Given the description of an element on the screen output the (x, y) to click on. 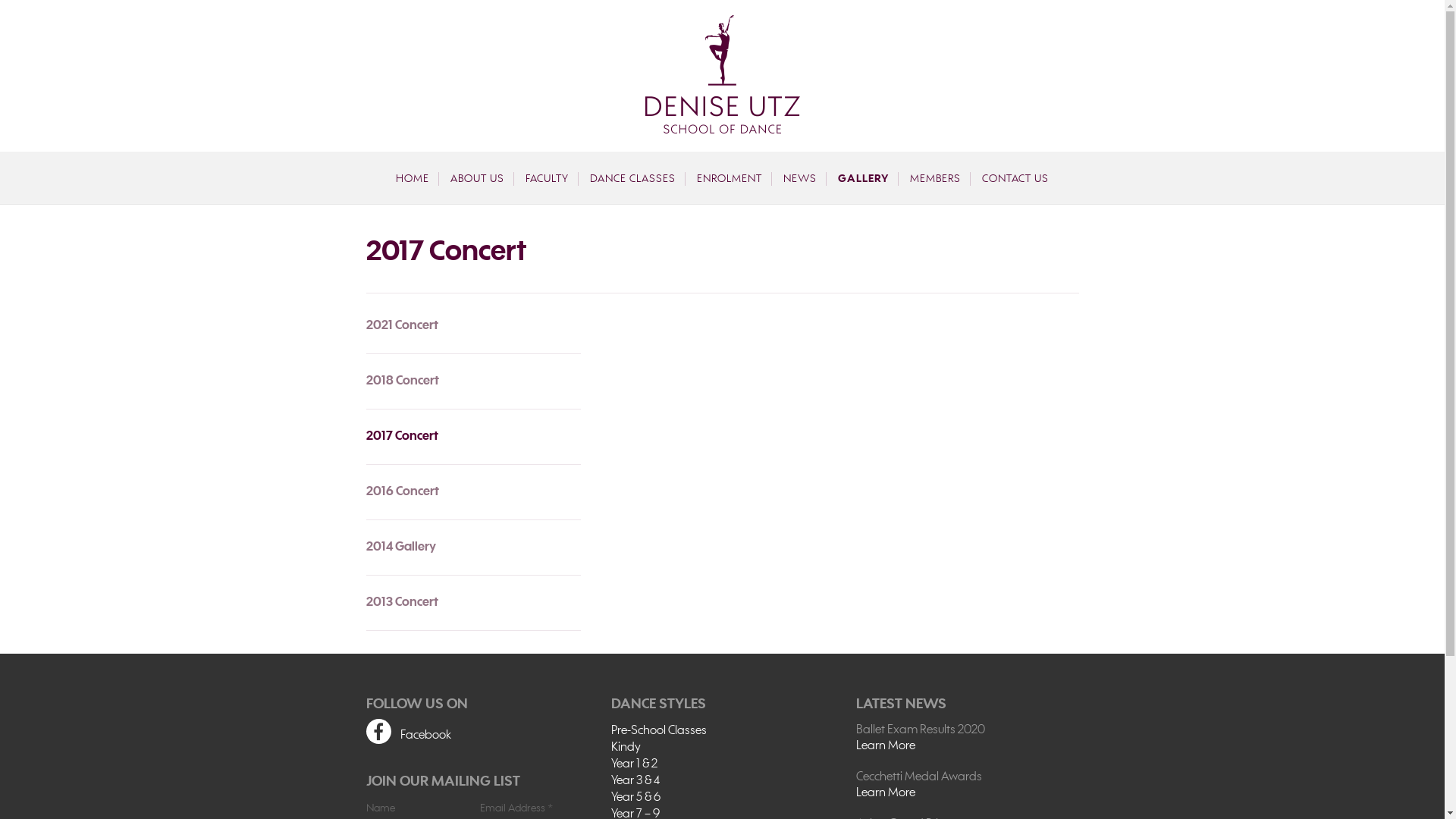
CONTACT US Element type: text (1014, 178)
Year 1 & 2 Element type: text (722, 764)
NEWS Element type: text (800, 178)
Learn More Element type: text (967, 745)
Facebook Element type: text (476, 733)
Pre-School Classes Element type: text (722, 730)
2017 Concert Element type: text (472, 436)
2013 Concert Element type: text (472, 602)
Year 3 & 4 Element type: text (722, 780)
GALLERY Element type: text (863, 178)
Cecchetti Medal Awards Element type: text (967, 776)
FACULTY Element type: text (547, 178)
DANCE CLASSES Element type: text (632, 178)
HOME Element type: text (412, 178)
Kindy Element type: text (722, 747)
2016 Concert Element type: text (472, 491)
2014 Gallery Element type: text (472, 547)
Ballet Exam Results 2020 Element type: text (967, 729)
Year 5 & 6 Element type: text (722, 797)
2018 Concert Element type: text (472, 381)
Denise Utz School of Dance Element type: hover (721, 74)
ABOUT US Element type: text (477, 178)
2021 Concert Element type: text (472, 331)
MEMBERS Element type: text (935, 178)
Learn More Element type: text (967, 792)
ENROLMENT Element type: text (729, 178)
